Given the description of an element on the screen output the (x, y) to click on. 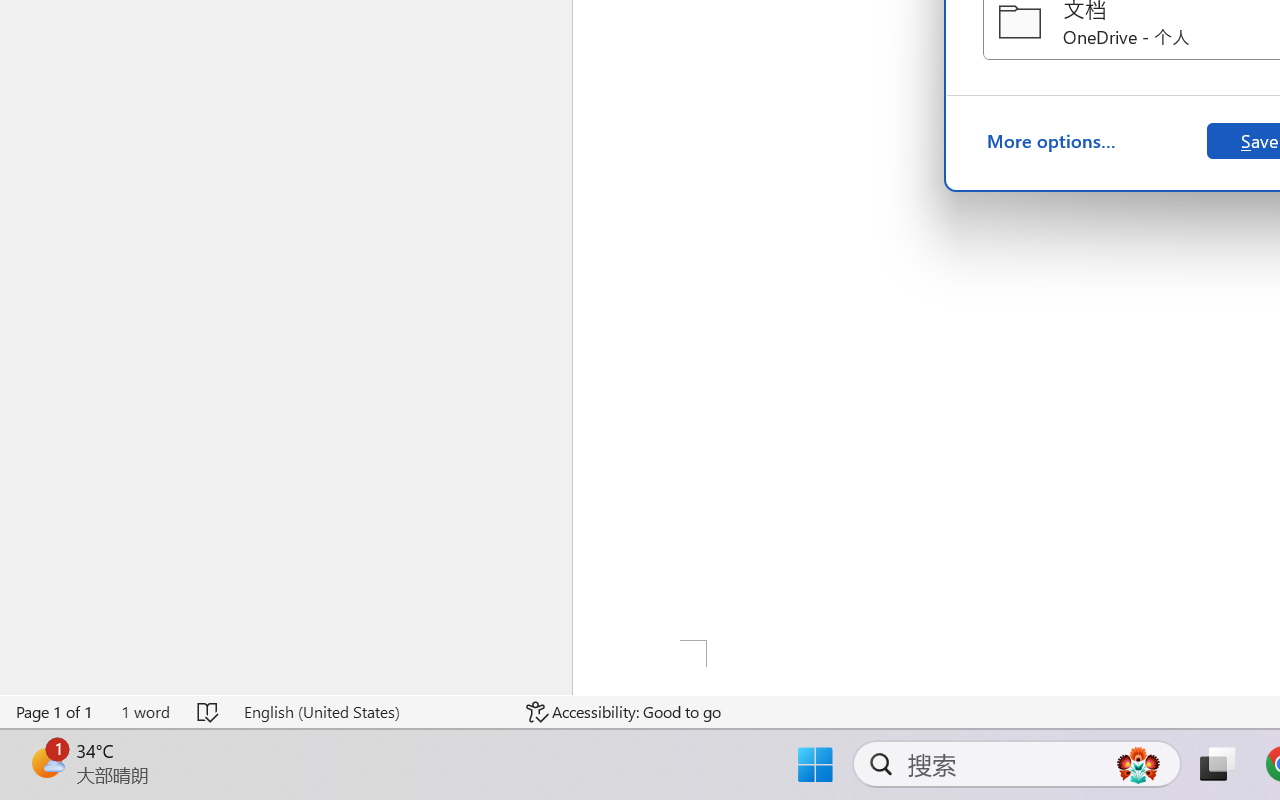
Spelling and Grammar Check No Errors (208, 712)
Page Number Page 1 of 1 (55, 712)
Accessibility Checker Accessibility: Good to go (623, 712)
AutomationID: DynamicSearchBoxGleamImage (1138, 764)
Word Count 1 word (145, 712)
AutomationID: BadgeAnchorLargeTicker (46, 762)
Language English (United States) (370, 712)
